Given the description of an element on the screen output the (x, y) to click on. 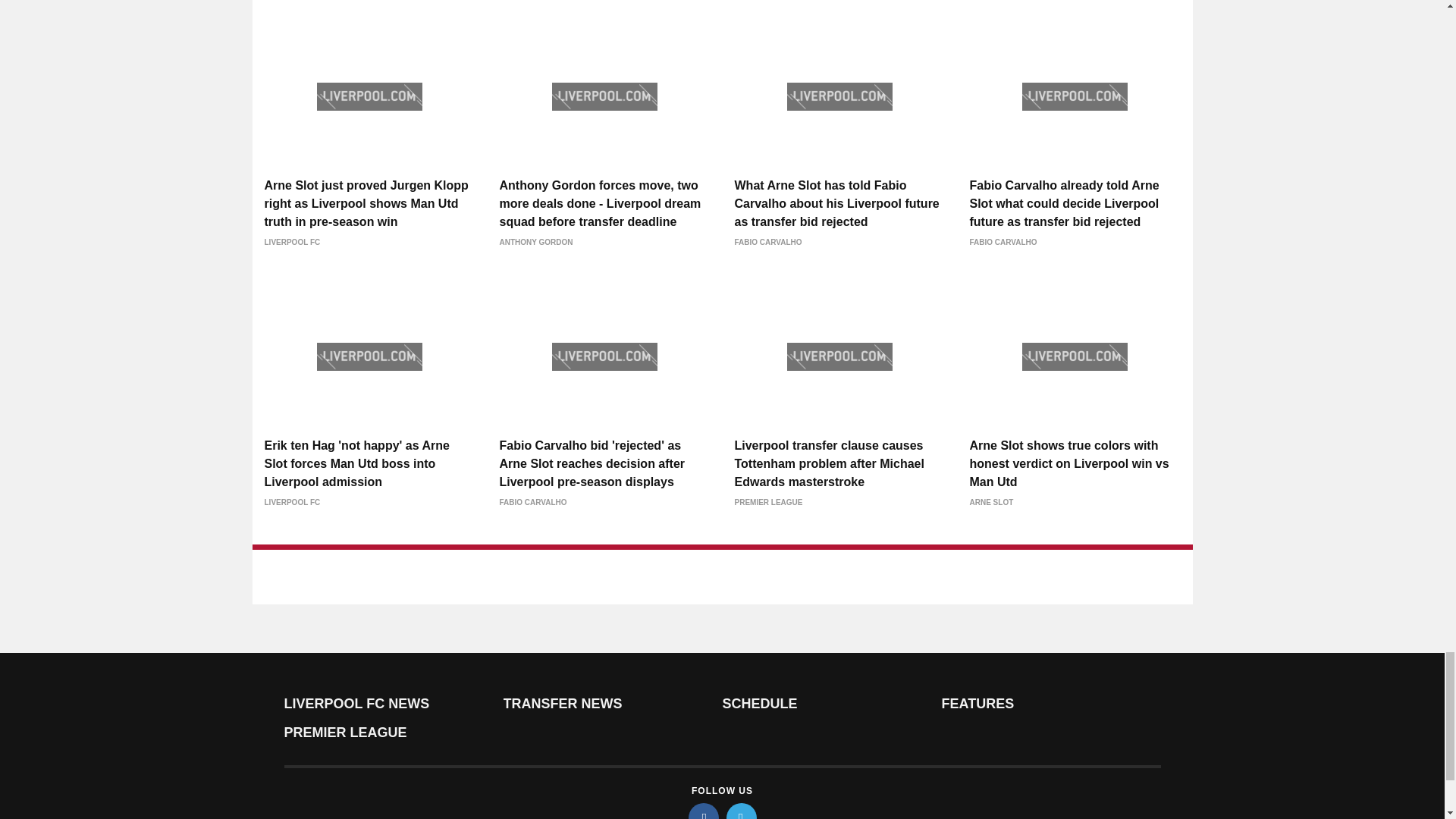
facebook (703, 810)
twitter (741, 810)
